Given the description of an element on the screen output the (x, y) to click on. 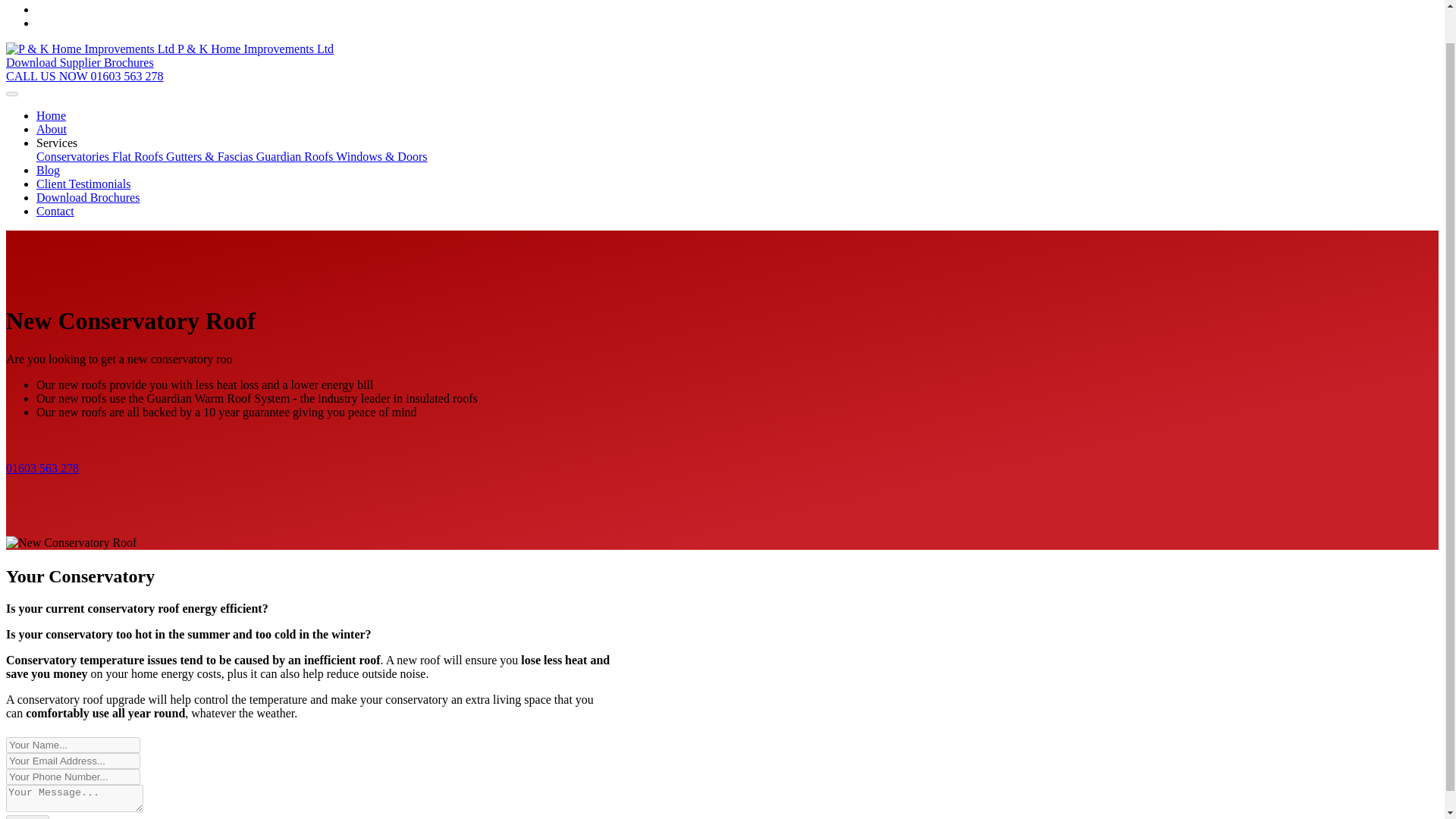
Link to Guardian Roofs (296, 155)
Home (50, 115)
Download Supplier Brochures (79, 62)
Link to Flat Roofs (138, 155)
Link to Download Brochures (87, 196)
Link to Blog (47, 169)
Contact (55, 210)
Client Testimonials (83, 183)
01603 563 278 (41, 468)
Blog (47, 169)
